Given the description of an element on the screen output the (x, y) to click on. 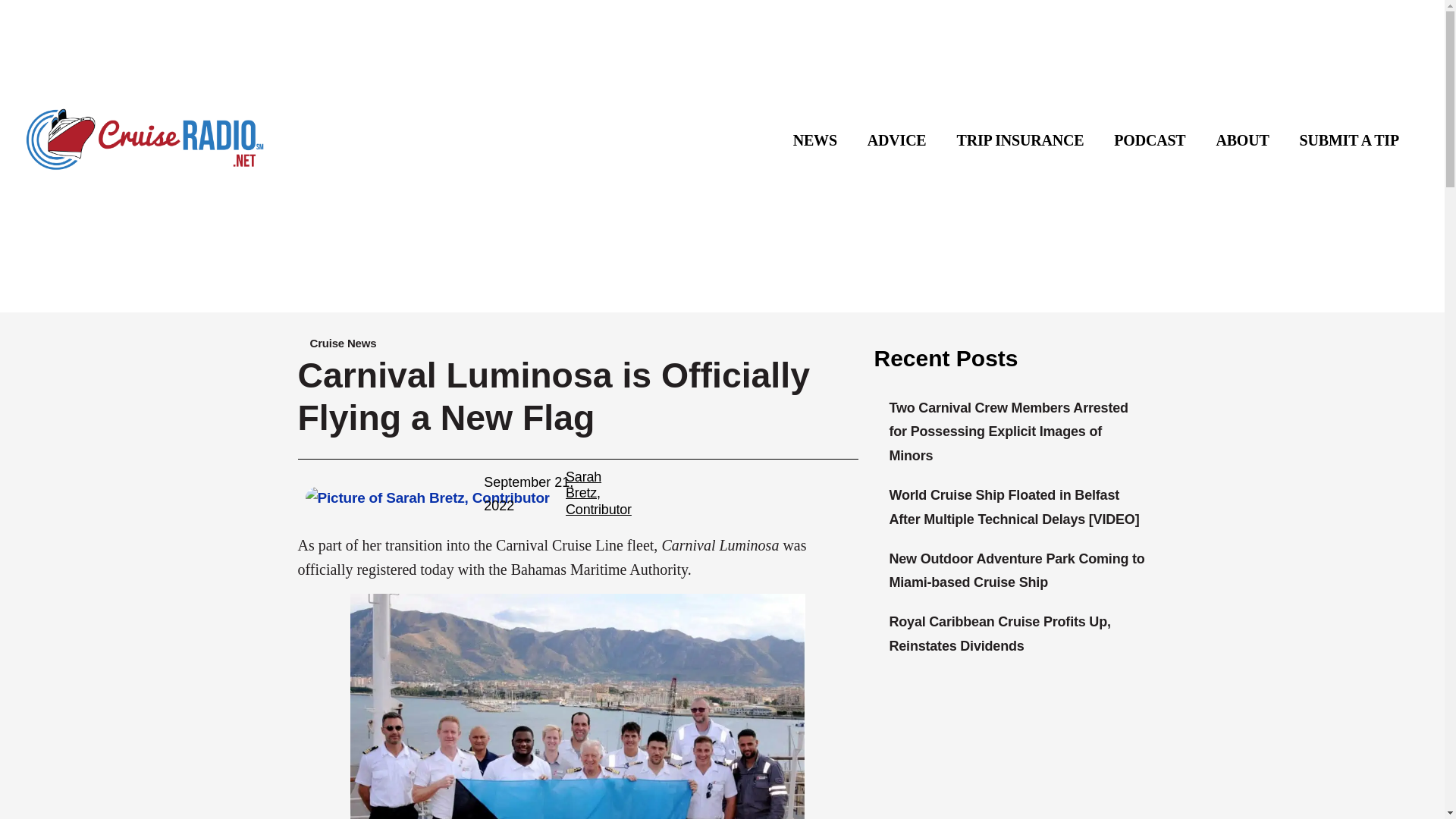
PODCAST (1149, 140)
New Outdoor Adventure Park Coming to Miami-based Cruise Ship (1016, 570)
Cruise News (342, 342)
Royal Caribbean Cruise Profits Up, Reinstates Dividends (998, 633)
SUBMIT A TIP (1348, 140)
ADVICE (896, 140)
TRIP INSURANCE (1020, 140)
Sarah Bretz, Contributor (598, 492)
ABOUT (1241, 140)
NEWS (814, 140)
